Given the description of an element on the screen output the (x, y) to click on. 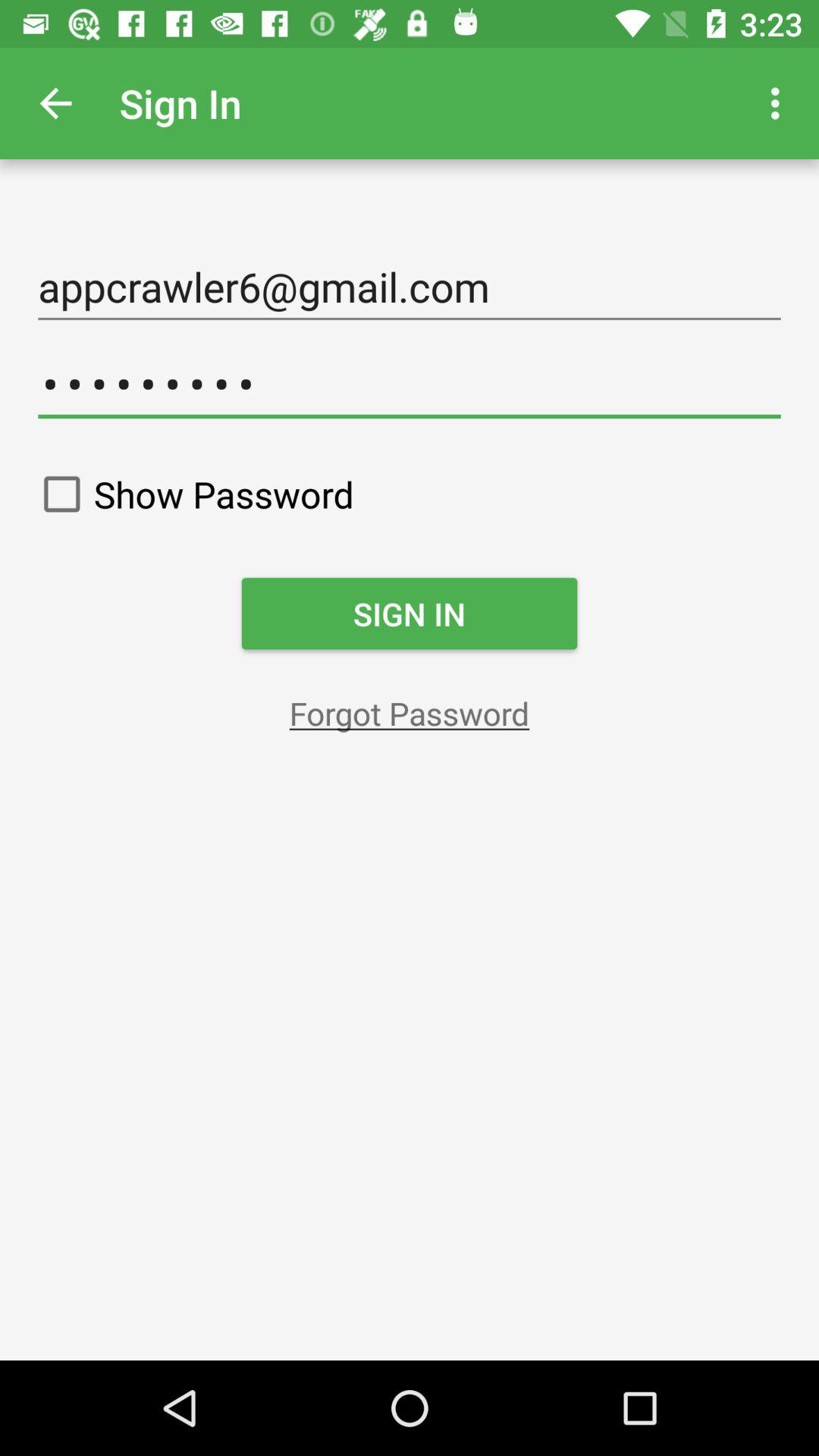
click appcrawler6@gmail.com icon (409, 286)
